Given the description of an element on the screen output the (x, y) to click on. 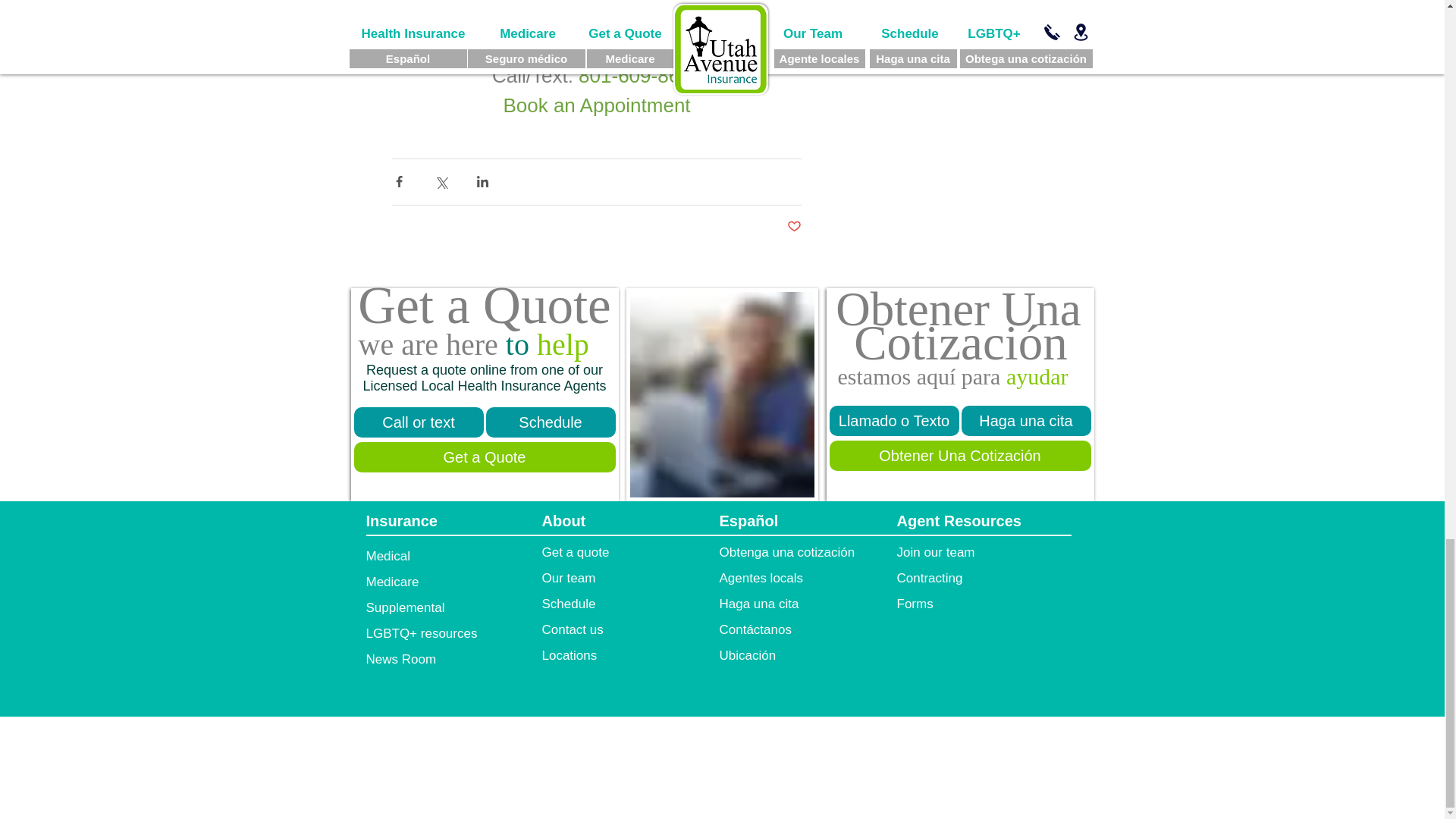
Post not marked as liked (794, 227)
Book an Appointment (596, 105)
